Given the description of an element on the screen output the (x, y) to click on. 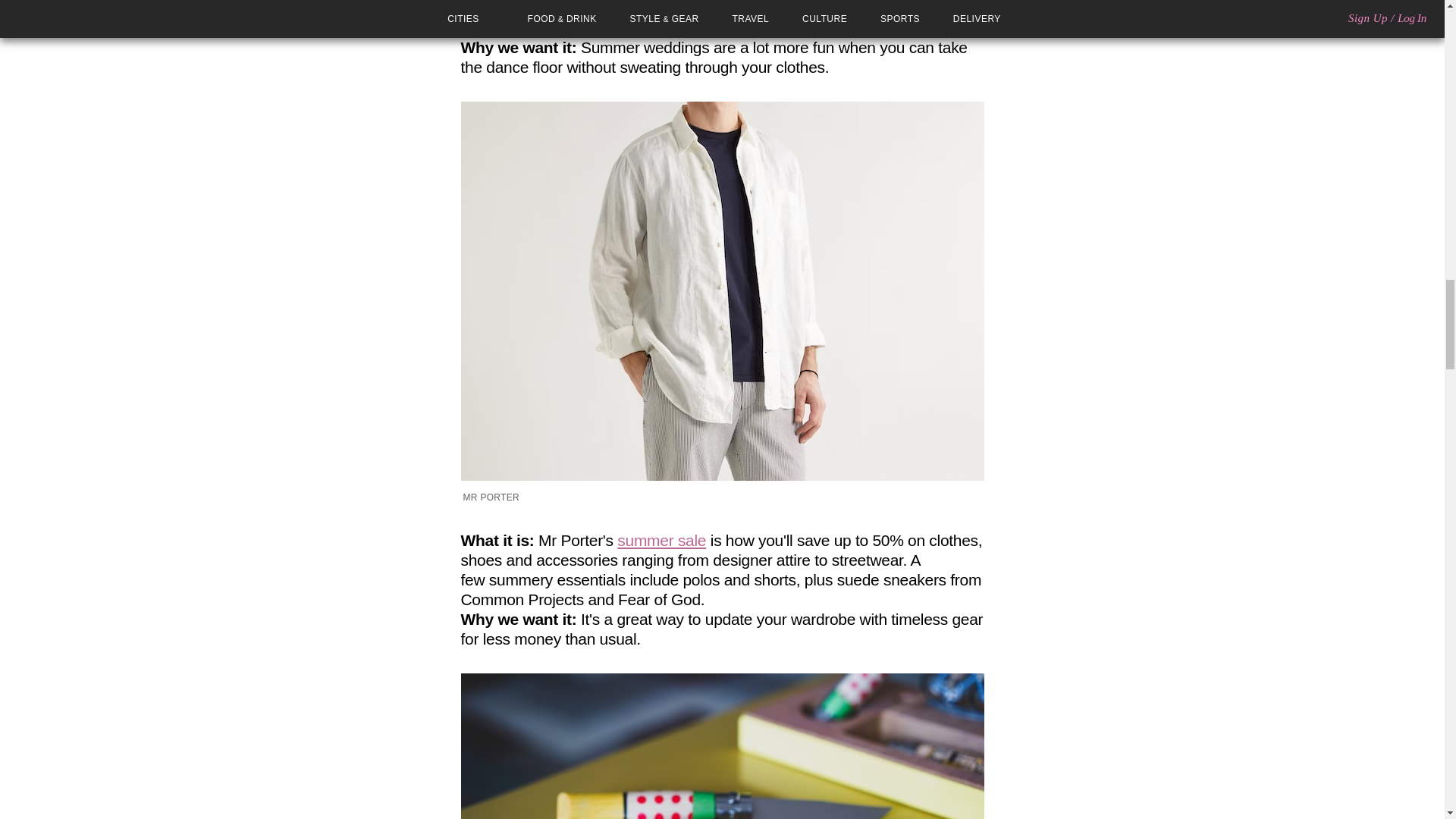
summer sale (661, 539)
Wesley oatmeal heathered linen suit (680, 18)
opinel tour de france knives (722, 746)
